Given the description of an element on the screen output the (x, y) to click on. 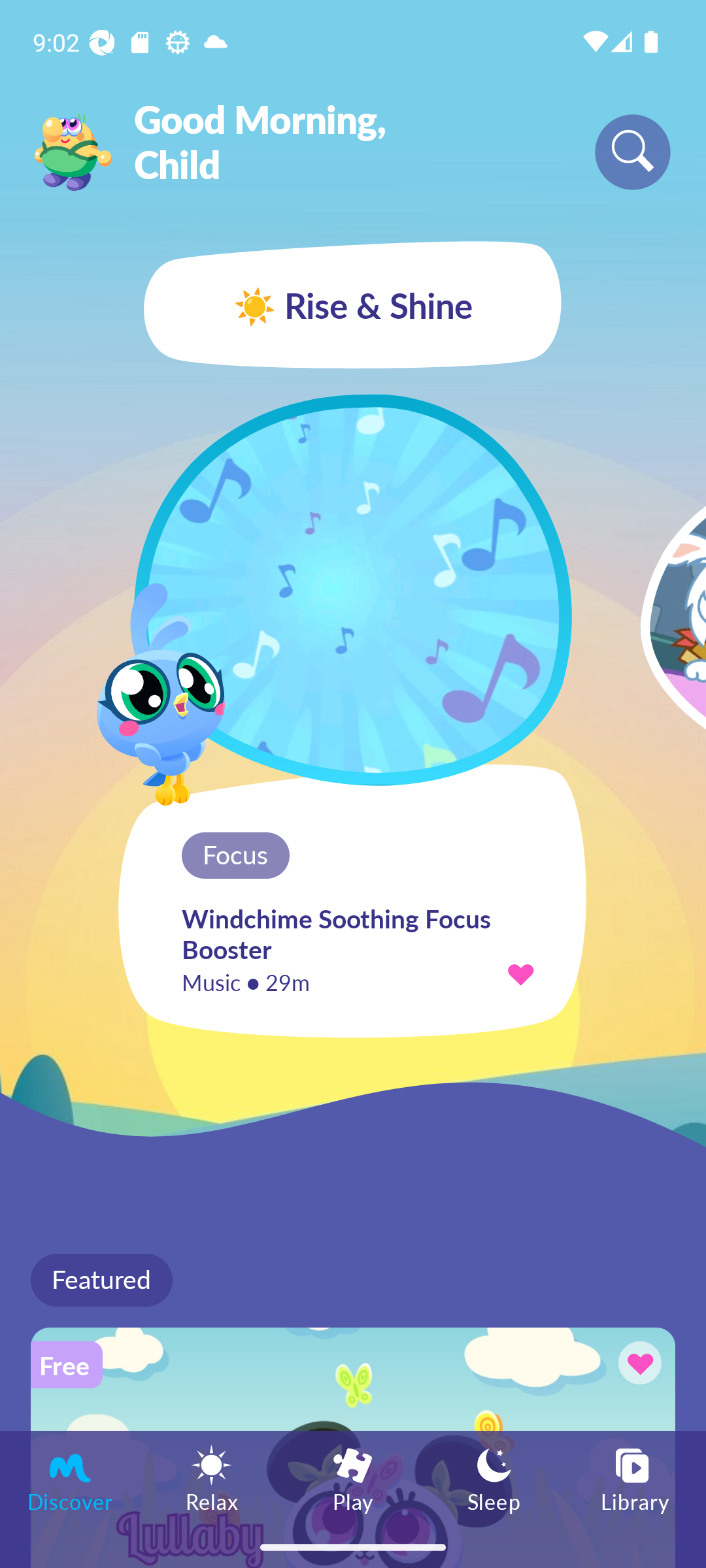
Search (632, 151)
action (520, 973)
Button (636, 1365)
Relax (211, 1478)
Play (352, 1478)
Sleep (493, 1478)
Library (635, 1478)
